Given the description of an element on the screen output the (x, y) to click on. 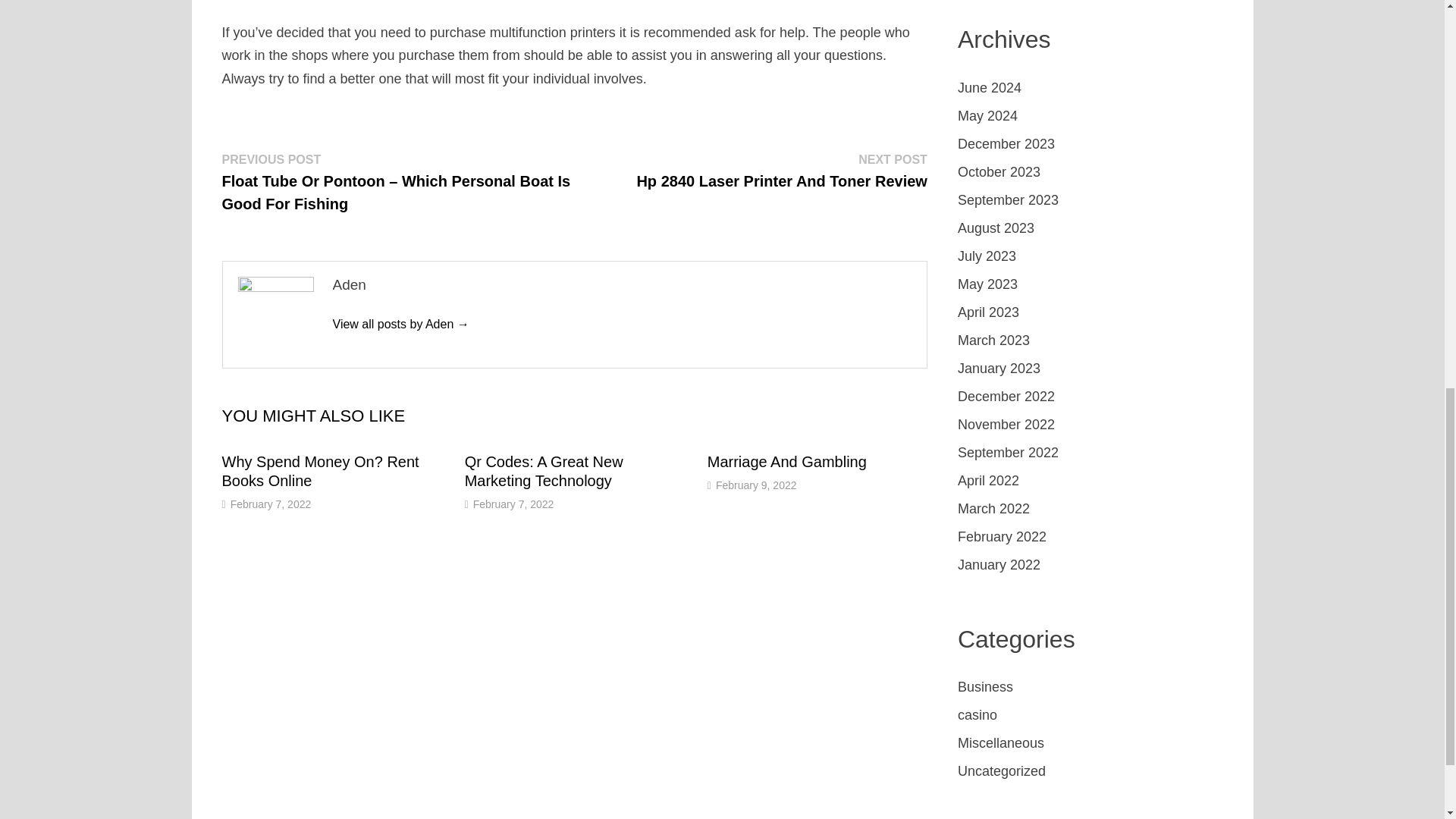
Qr Codes: A Great New Marketing Technology (543, 470)
February 7, 2022 (513, 503)
Why Spend Money On? Rent Books Online (320, 470)
Qr Codes: A Great New Marketing Technology (543, 470)
December 2023 (1006, 143)
Why Spend Money On? Rent Books Online (320, 470)
Aden (399, 323)
May 2024 (987, 114)
September 2023 (1008, 200)
October 2023 (999, 171)
Marriage And Gambling (786, 461)
Marriage And Gambling (786, 461)
February 7, 2022 (270, 503)
June 2024 (990, 87)
